Given the description of an element on the screen output the (x, y) to click on. 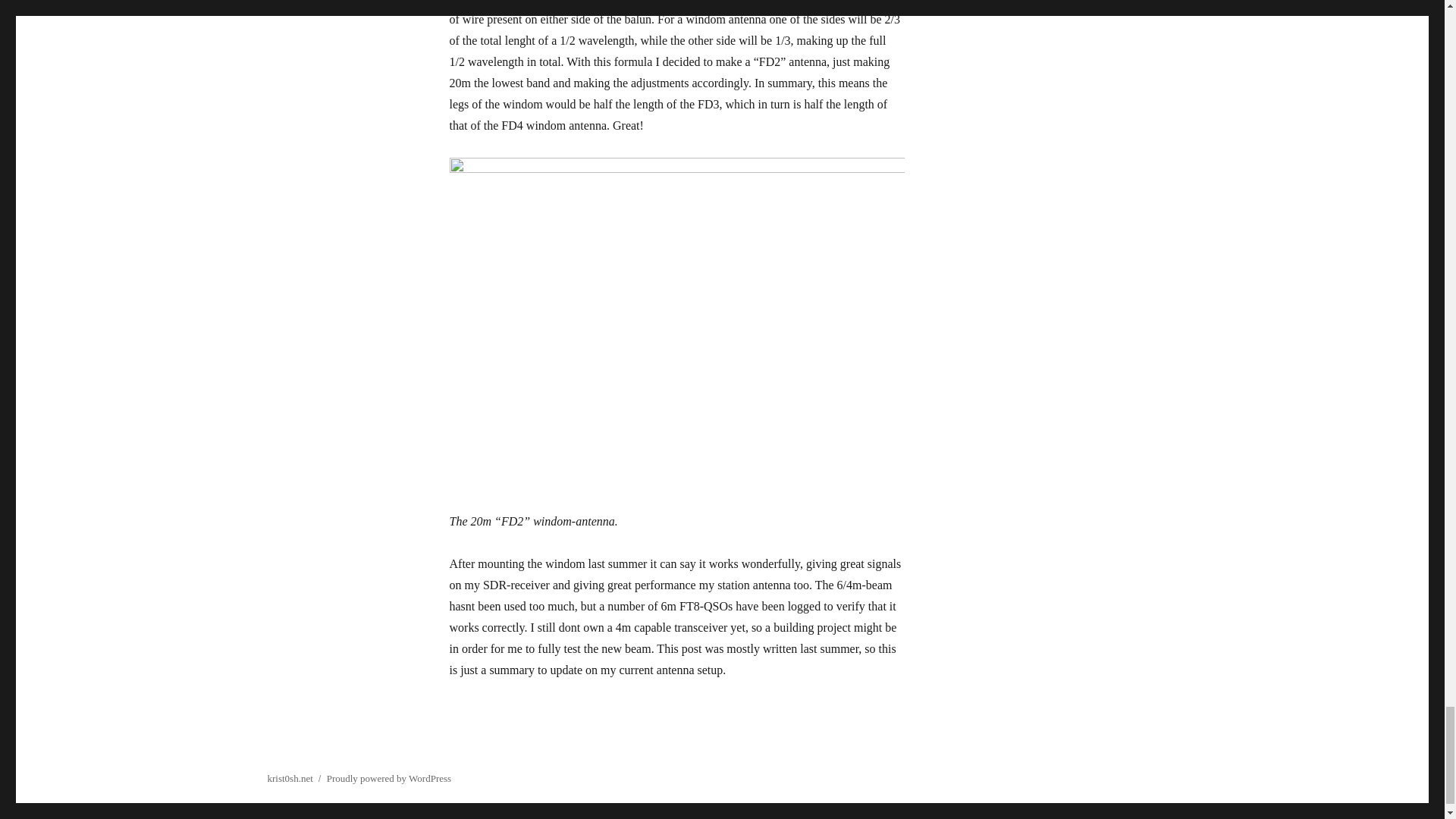
Proudly powered by WordPress (388, 778)
krist0sh.net (289, 778)
